Given the description of an element on the screen output the (x, y) to click on. 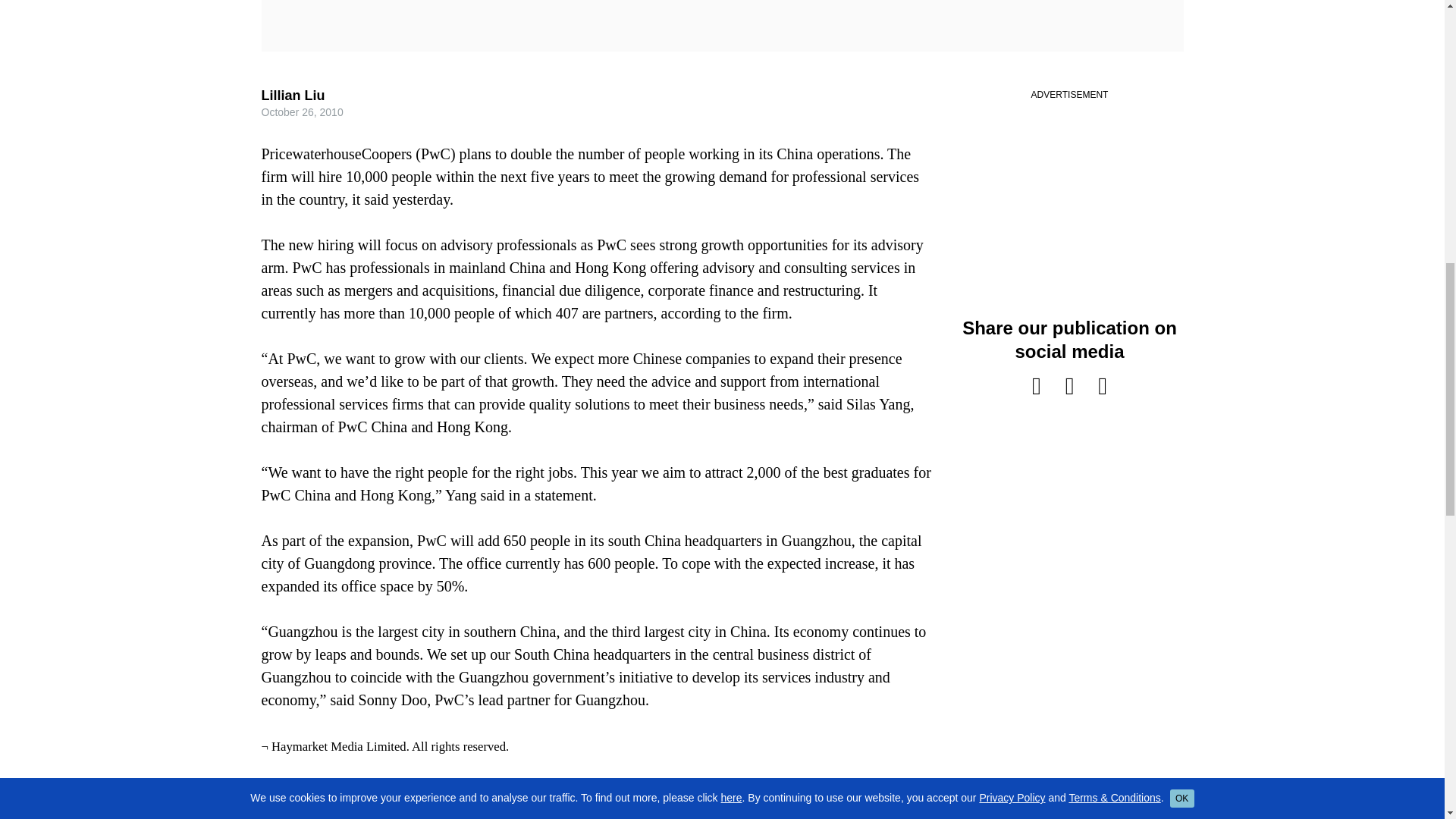
3rd party ad content (1068, 196)
Lillian Liu (292, 95)
